Given the description of an element on the screen output the (x, y) to click on. 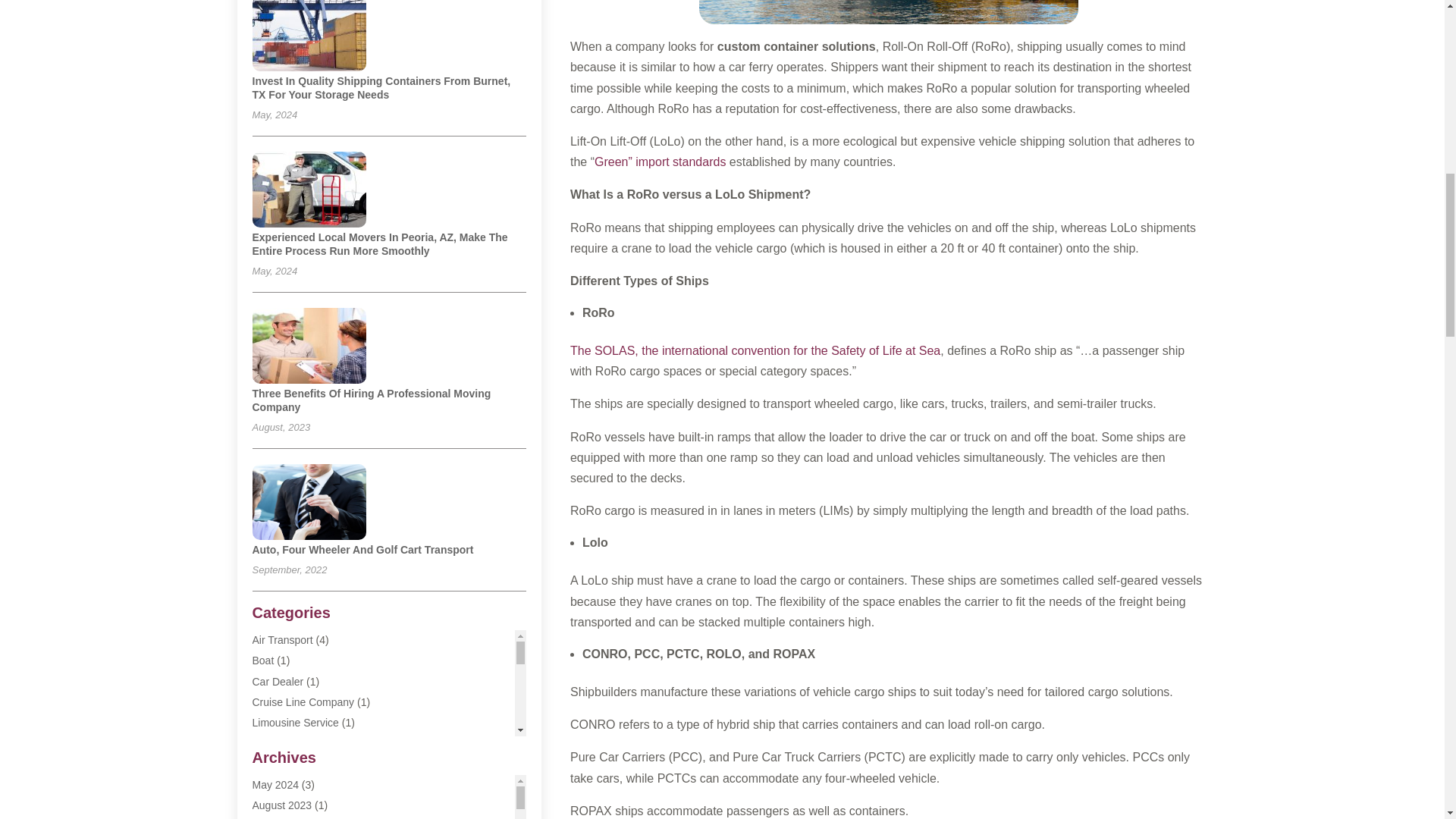
Limousine Service (294, 722)
Air Transport (282, 639)
Moving (268, 763)
Three Benefits Of Hiring A Professional Moving Company (370, 400)
Auto, Four Wheeler And Golf Cart Transport (362, 549)
Movers (268, 743)
Cruise Line Company (302, 702)
Boat (262, 660)
Moving And Relocating (305, 805)
Car Dealer (276, 681)
